Given the description of an element on the screen output the (x, y) to click on. 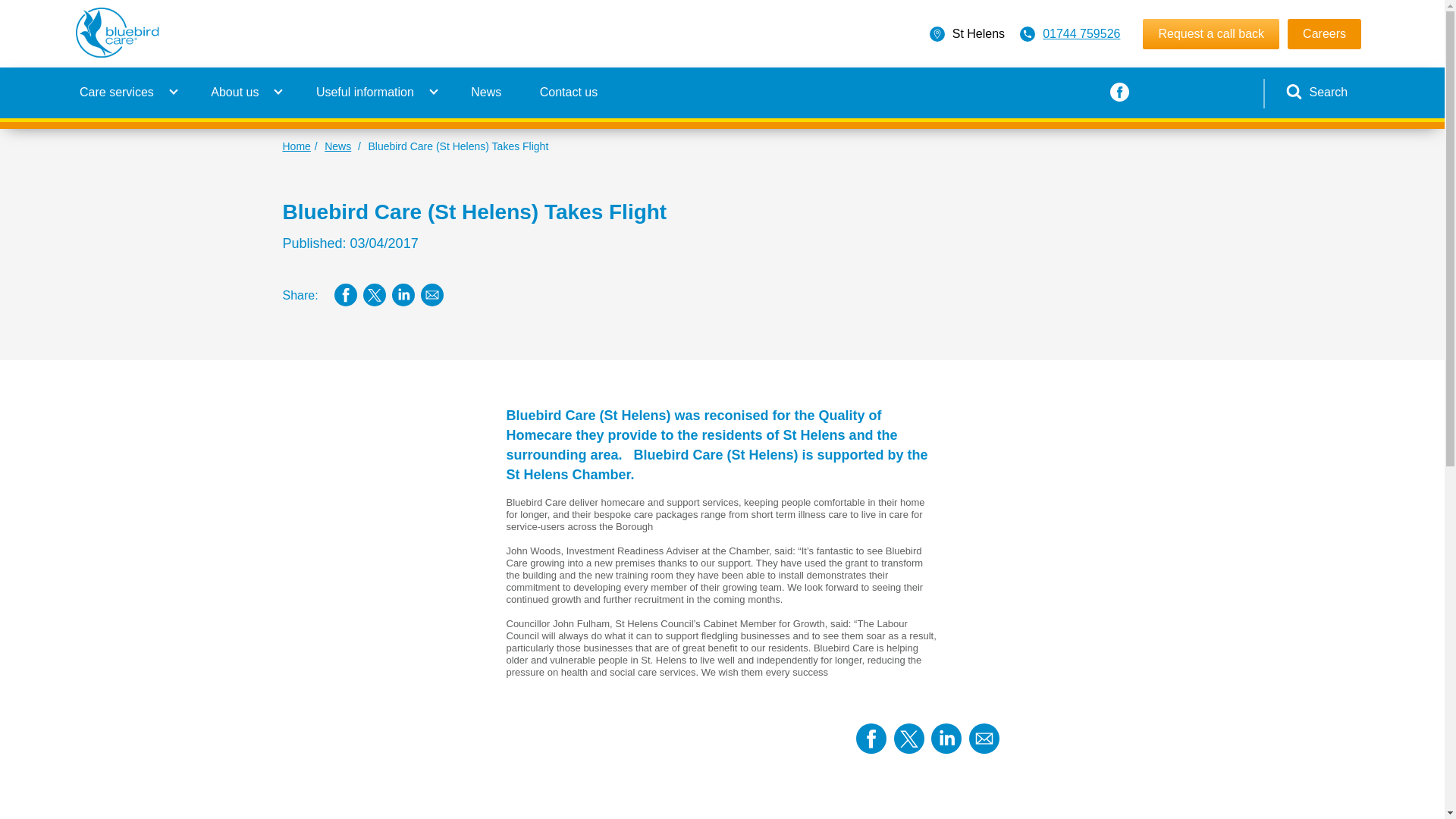
Request a call back (1210, 33)
01744 759526 (1080, 33)
Careers (1324, 33)
